Given the description of an element on the screen output the (x, y) to click on. 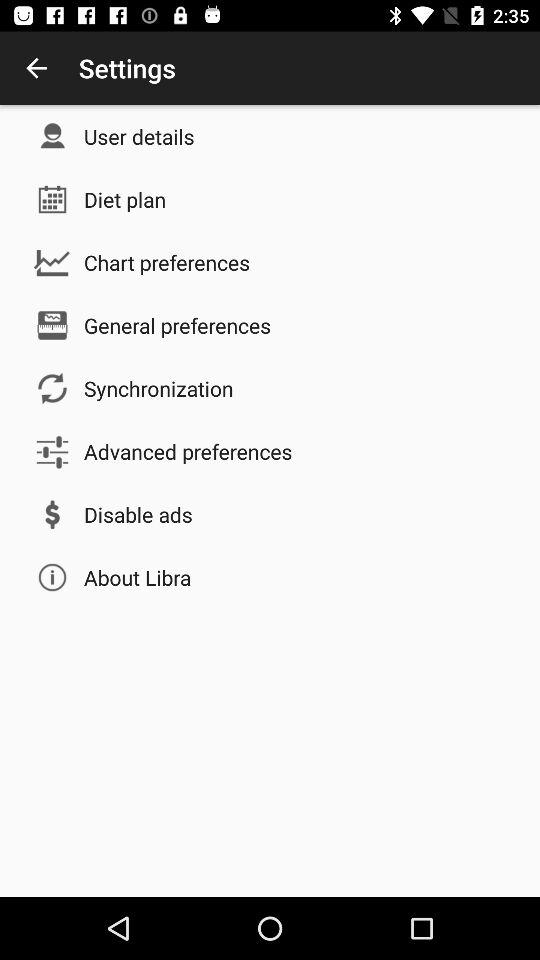
tap the item below the settings icon (139, 136)
